Given the description of an element on the screen output the (x, y) to click on. 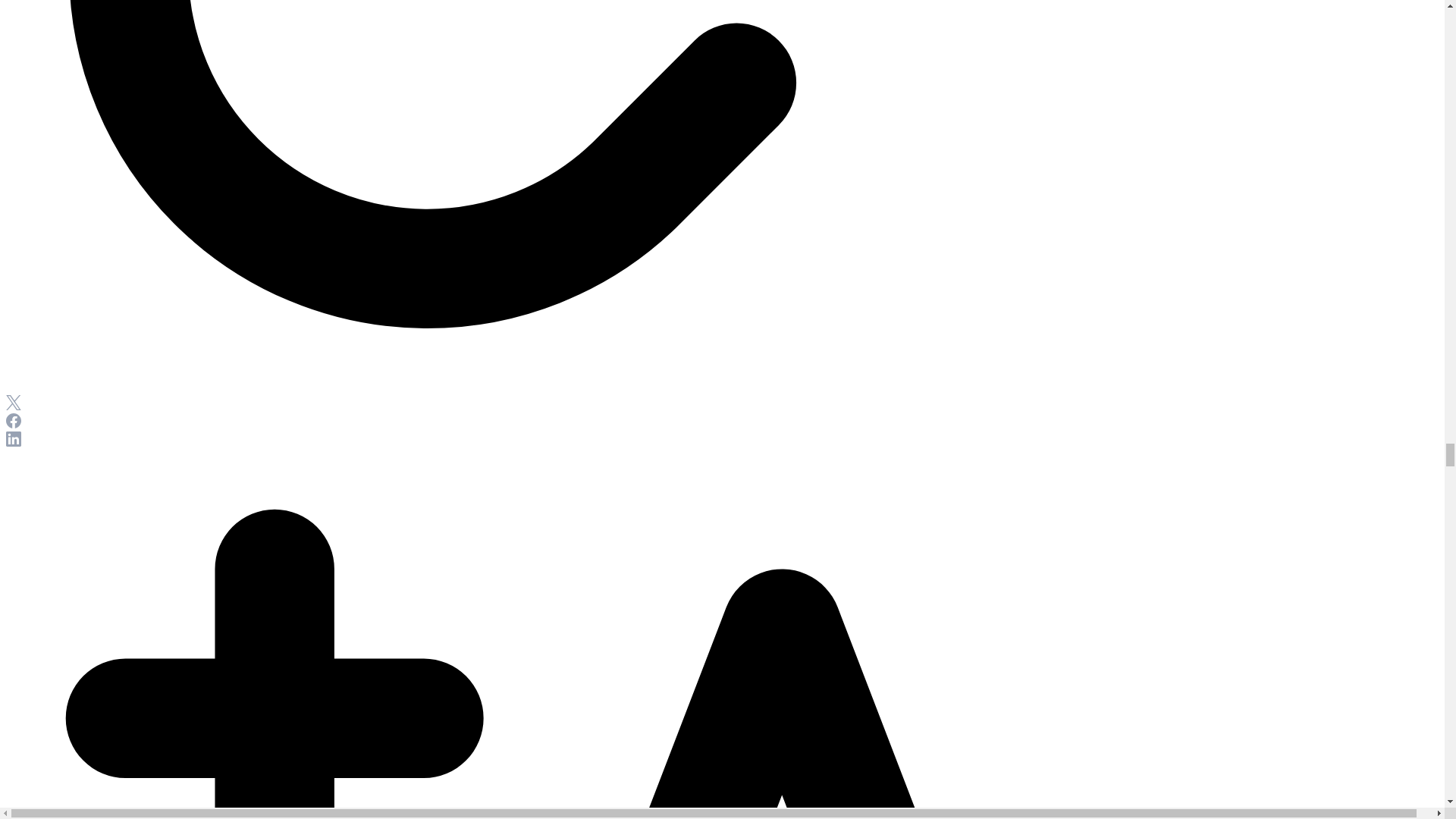
Share on Twitter (13, 405)
Share on Facebook (13, 423)
Share on LinkedIn (13, 441)
